Given the description of an element on the screen output the (x, y) to click on. 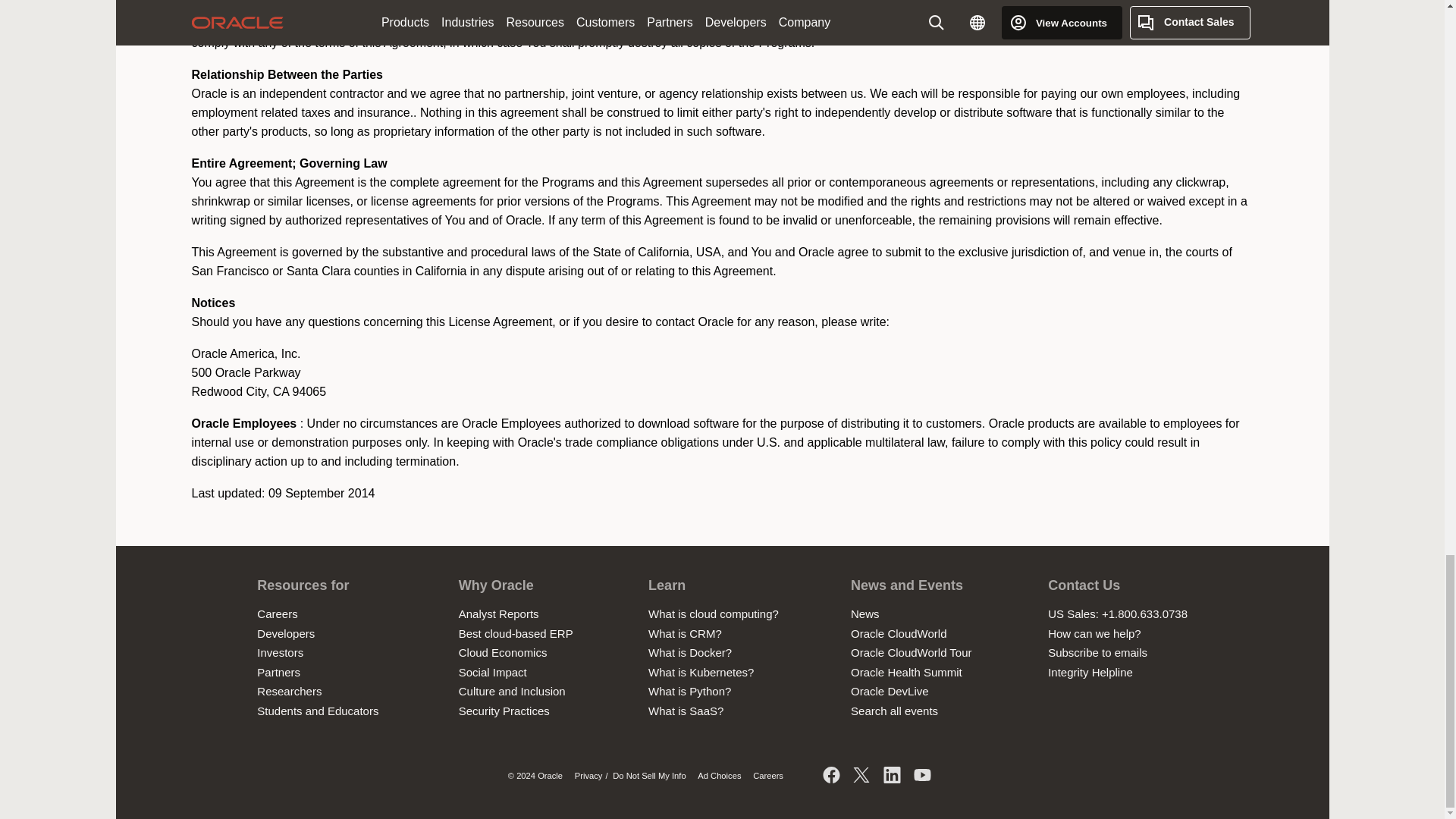
Researchers (289, 690)
Careers (277, 613)
Oracle on Facebook (832, 776)
Follow Oracle on Twitter (861, 776)
Investors (279, 652)
Students and Educators (317, 710)
Oracle on LinkedIn (892, 776)
Partners (278, 671)
Developers (285, 633)
Watch Oracle on YouTube (922, 776)
